Given the description of an element on the screen output the (x, y) to click on. 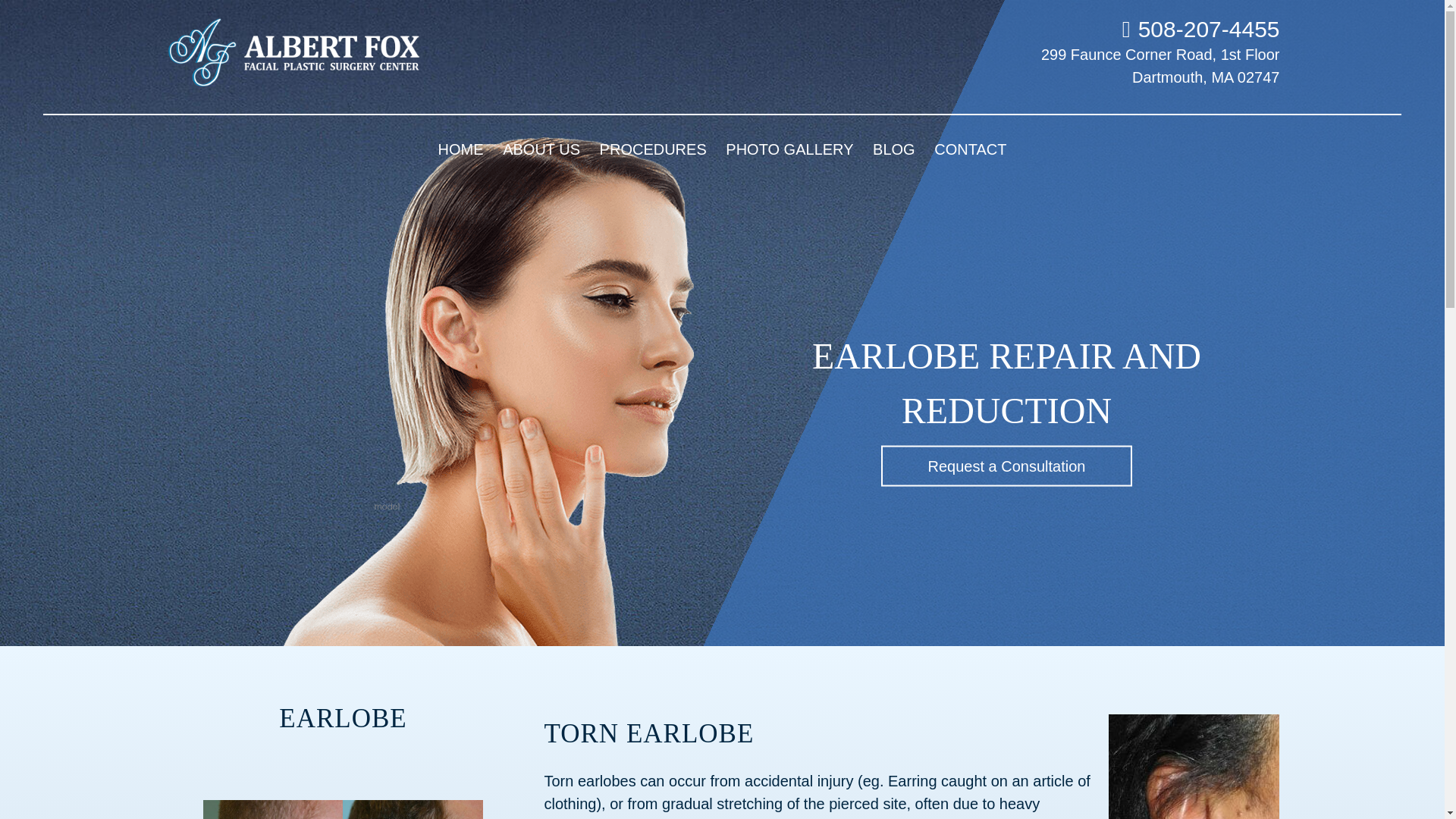
ABOUT US (541, 149)
Fox Facial Plastic Surgery (308, 52)
508-207-4455 (1200, 29)
PROCEDURES (653, 149)
HOME (461, 149)
